Given the description of an element on the screen output the (x, y) to click on. 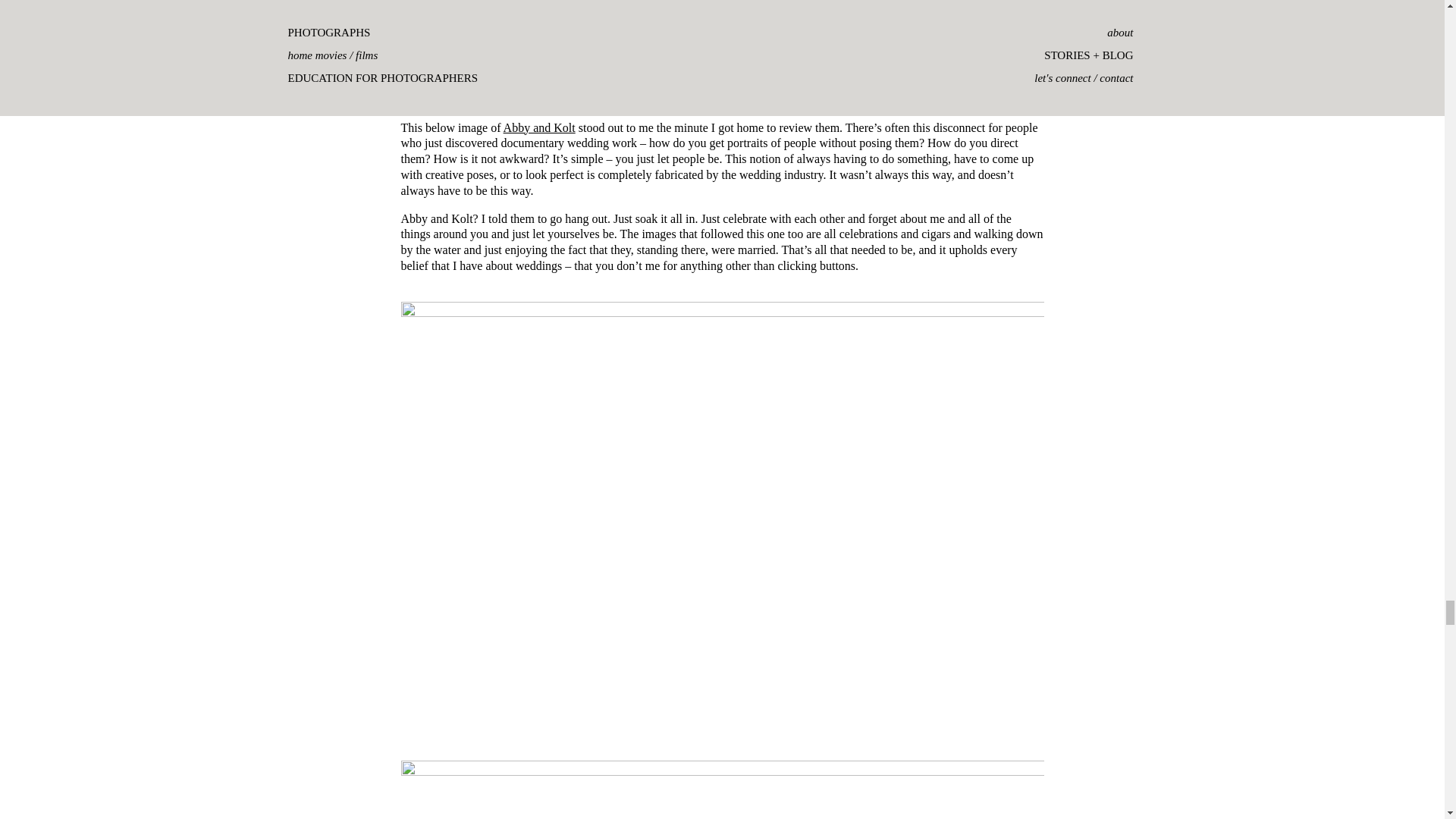
Abby and Kolt (539, 127)
